Given the description of an element on the screen output the (x, y) to click on. 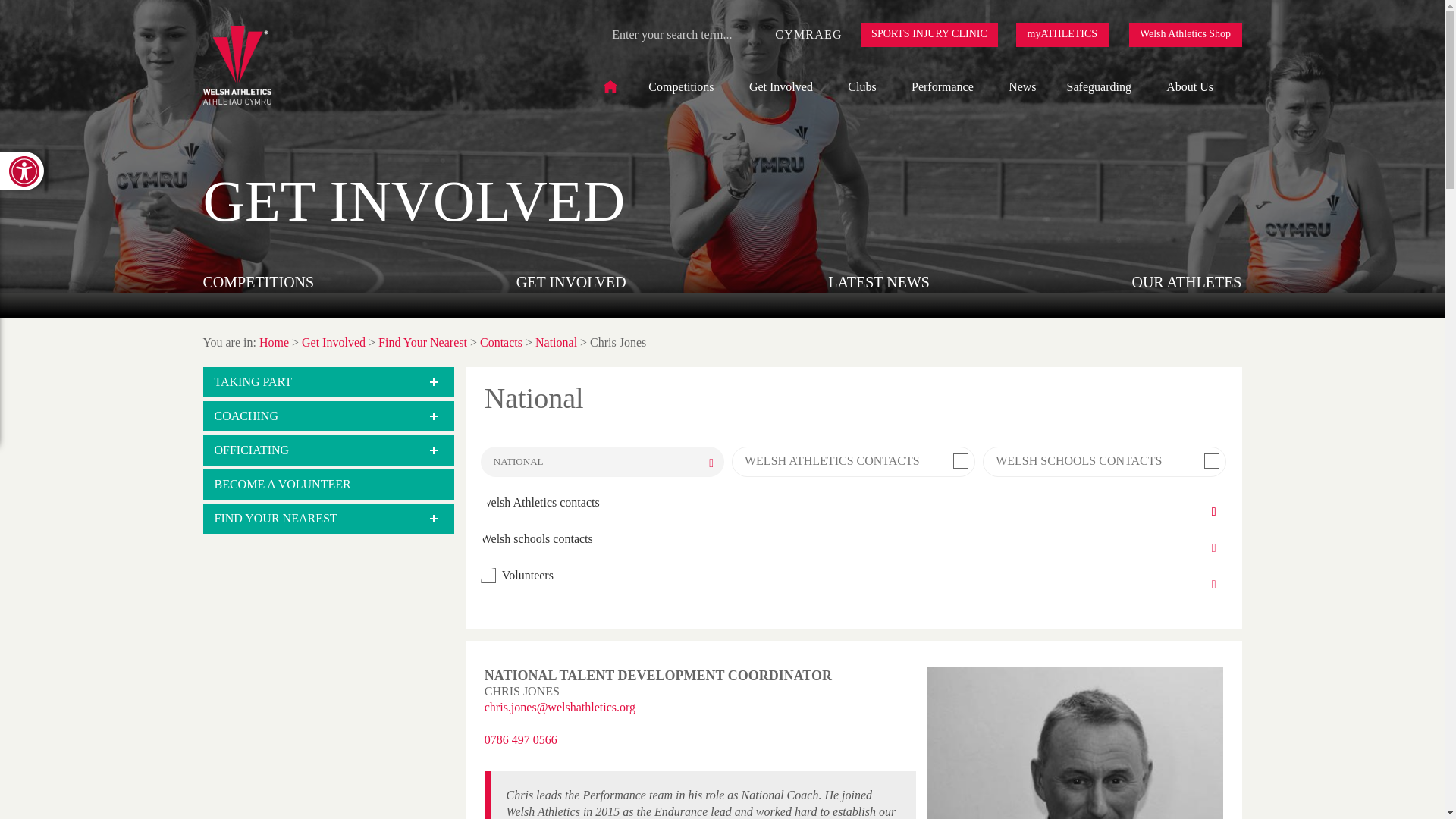
Accessibility (21, 170)
school (1212, 460)
volunteer (488, 575)
internal (960, 460)
